Given the description of an element on the screen output the (x, y) to click on. 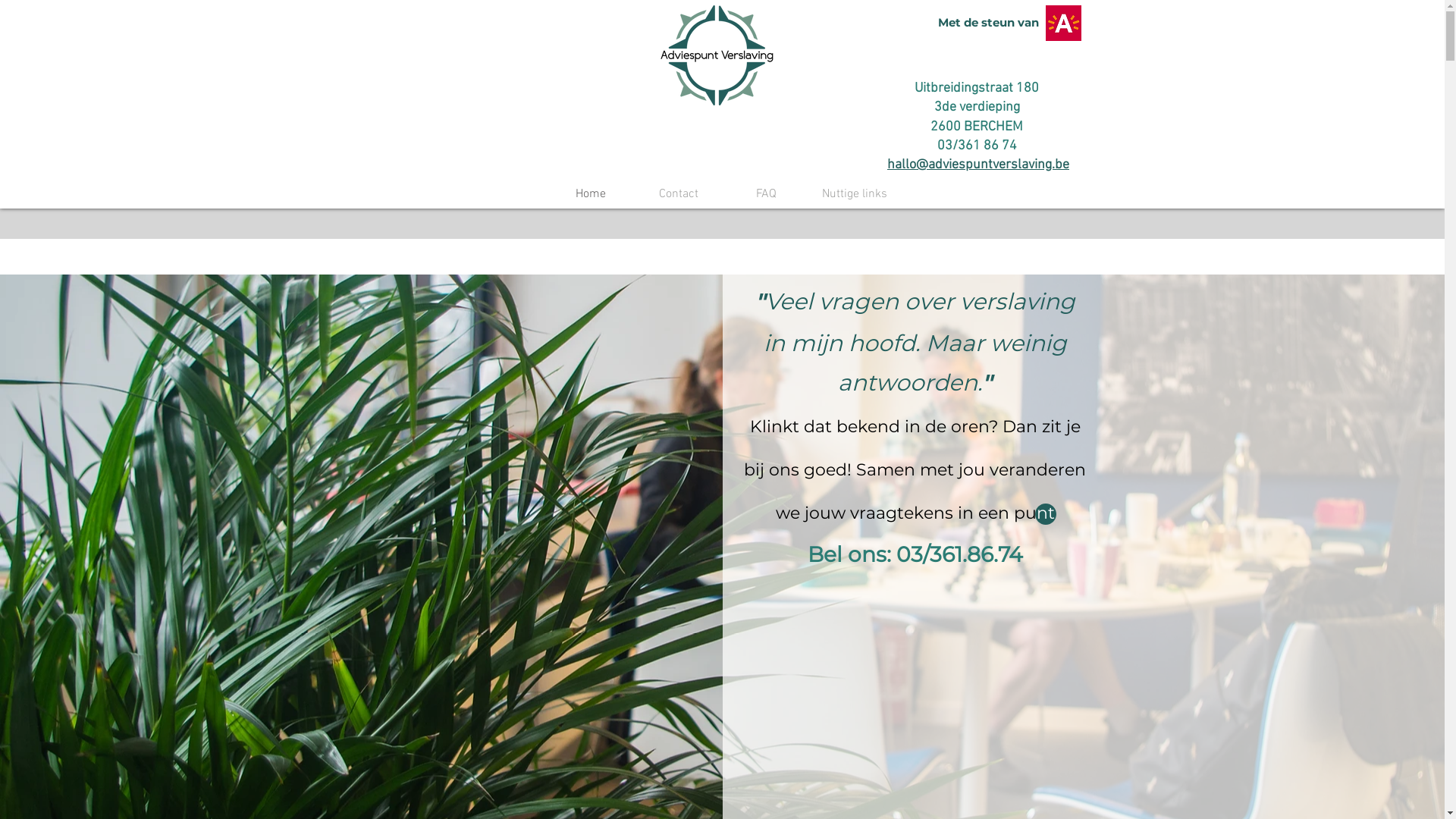
Contact Element type: text (677, 193)
hallo@adviespuntverslaving.be Element type: text (978, 164)
Home Element type: text (589, 193)
Nuttige links Element type: text (853, 193)
FAQ Element type: text (765, 193)
